Given the description of an element on the screen output the (x, y) to click on. 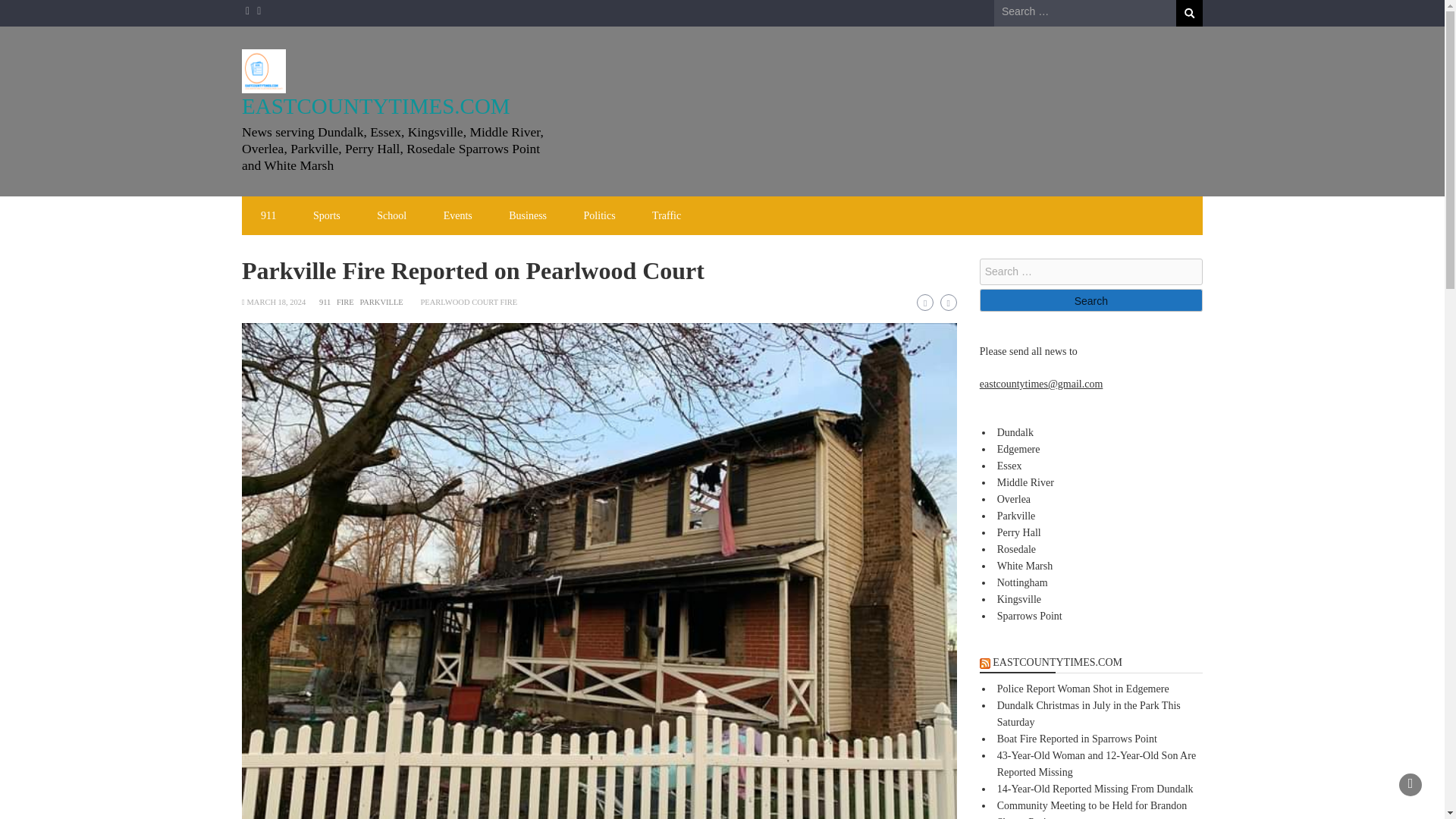
Perry Hall (1019, 532)
Politics (599, 215)
Search for: (1085, 11)
Business (527, 215)
White Marsh (1024, 565)
FIRE (344, 302)
Search (1090, 300)
Search for: (1090, 271)
Search (1090, 300)
Essex (1009, 465)
Kingsville (1019, 599)
Sparrows Point (1029, 615)
Overlea (1013, 499)
Search (1189, 13)
Search (1189, 13)
